Given the description of an element on the screen output the (x, y) to click on. 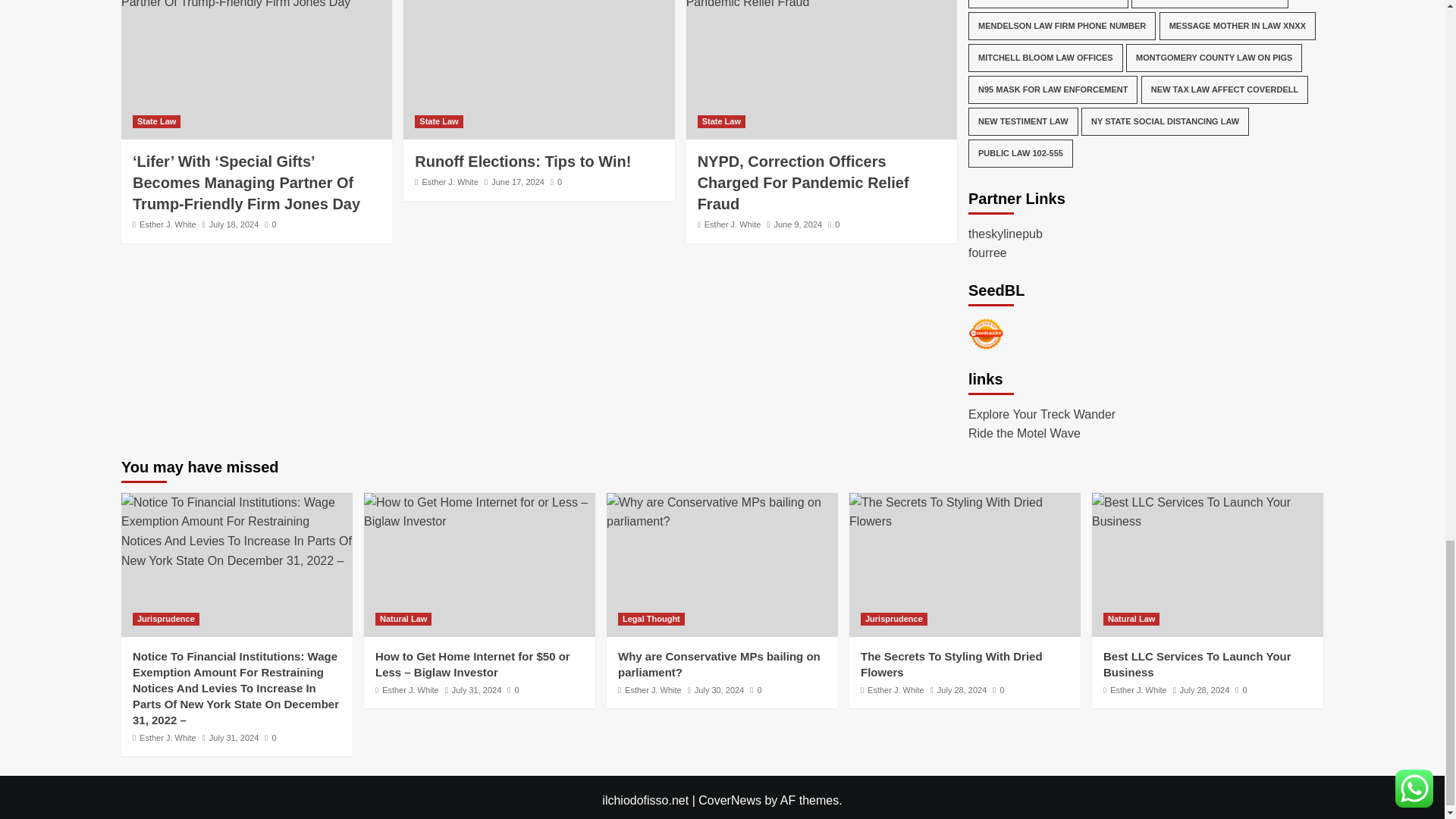
State Law (156, 121)
July 18, 2024 (234, 224)
Seedbacklink (986, 334)
NYPD, Correction Officers Charged For Pandemic Relief Fraud (820, 5)
Esther J. White (167, 224)
Why are Conservative MPs bailing on parliament? (722, 512)
